Given the description of an element on the screen output the (x, y) to click on. 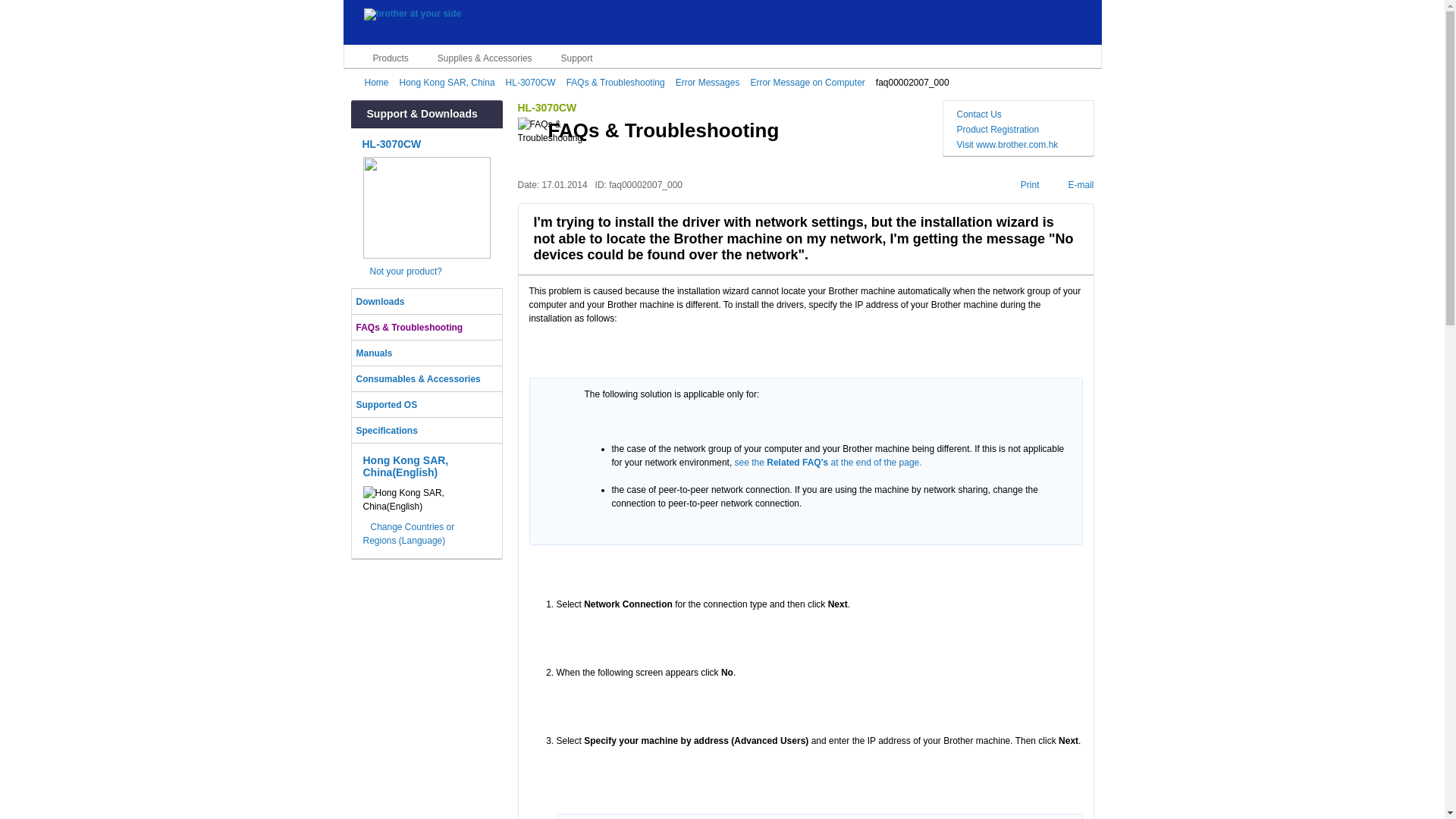
Support (569, 58)
Downloads (426, 301)
Error Message on Computer (809, 82)
Manuals (426, 352)
Visit www.brother.com.hk (1017, 144)
see the Related FAQ's at the end of the page. (828, 462)
Not your product? (427, 271)
Home (379, 82)
Print (1024, 184)
Product Registration (1017, 129)
